Given the description of an element on the screen output the (x, y) to click on. 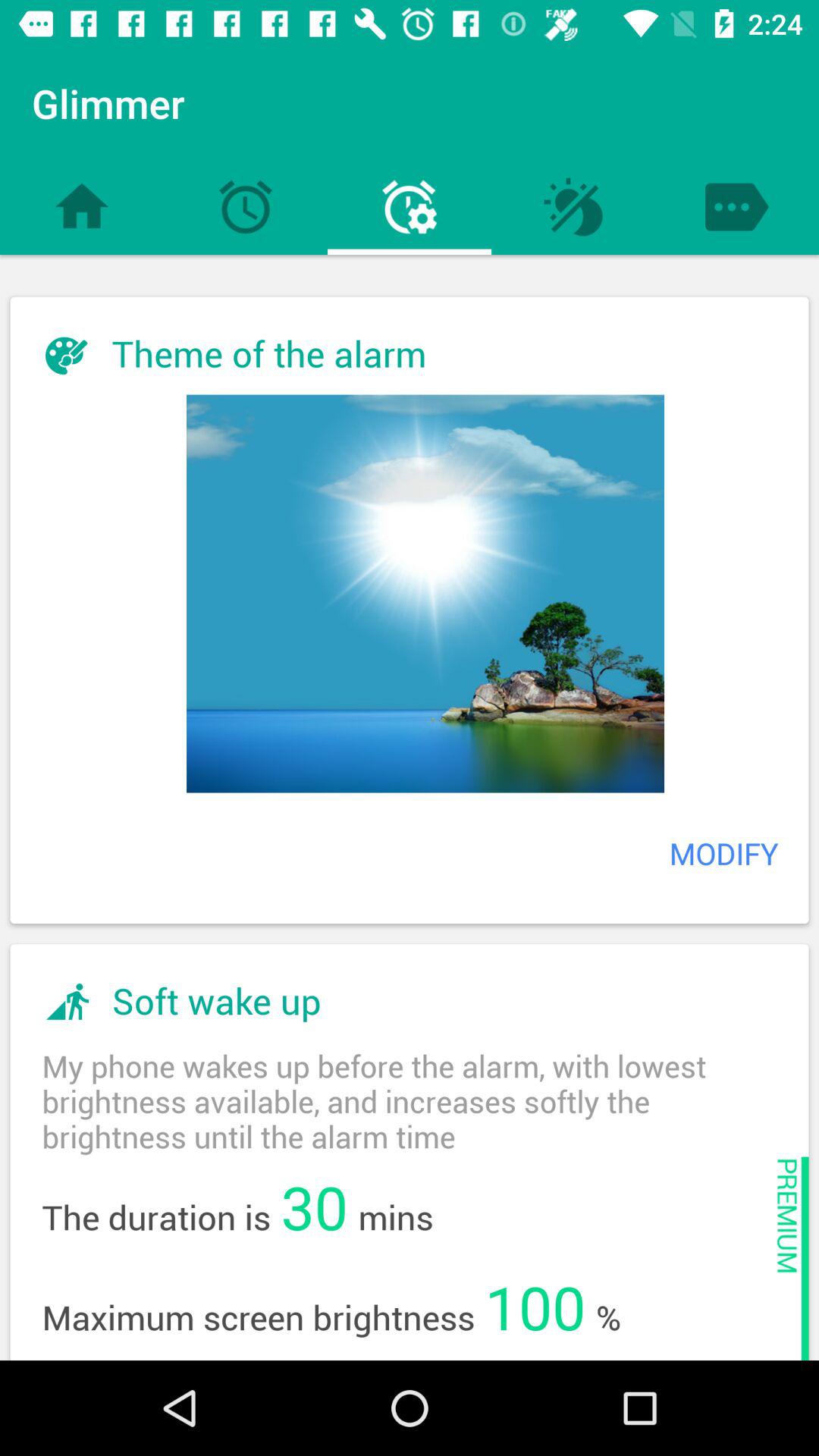
modify theme (425, 593)
